Given the description of an element on the screen output the (x, y) to click on. 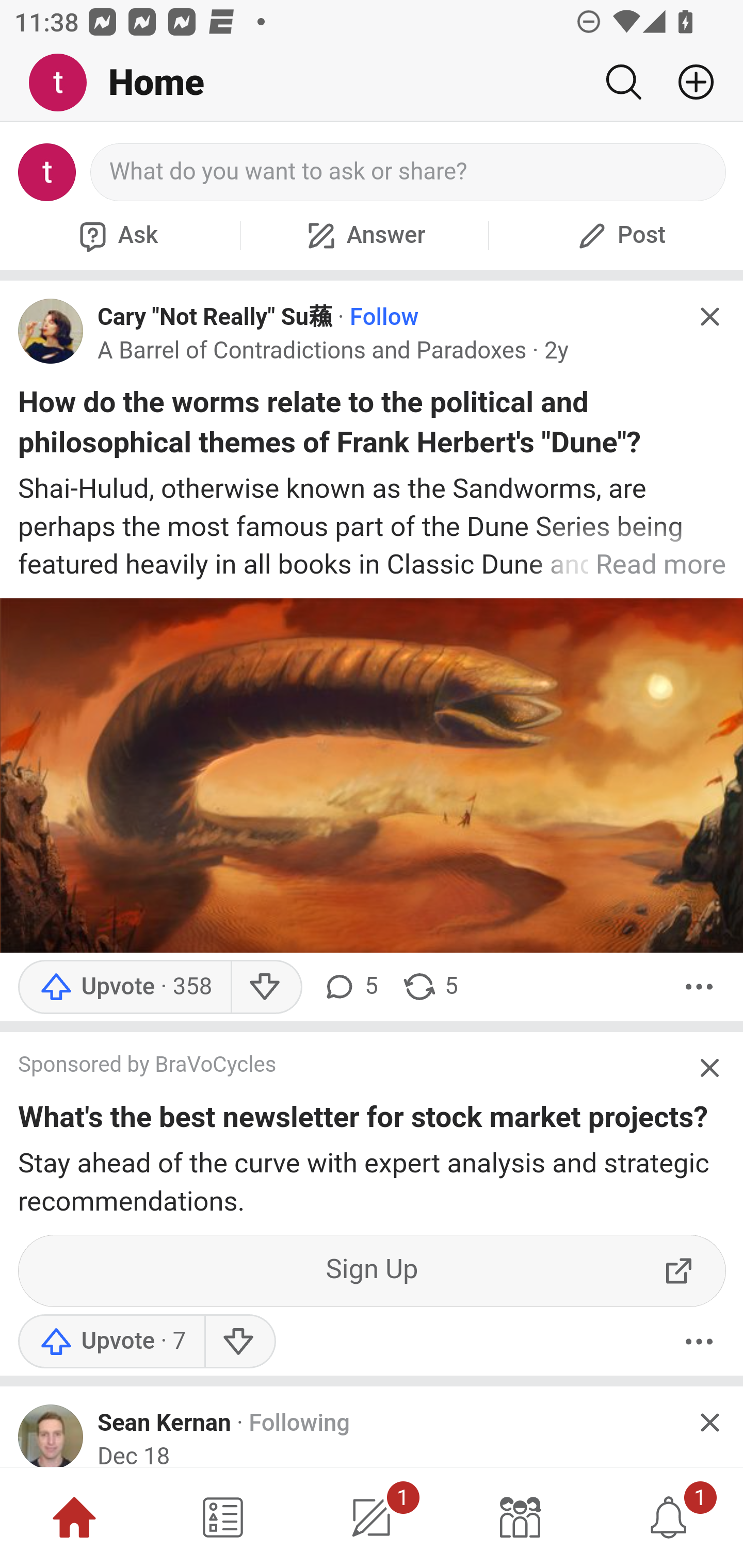
Me (64, 83)
Search (623, 82)
Add (688, 82)
What do you want to ask or share? (408, 172)
Ask (116, 234)
Answer (364, 234)
Post (618, 234)
Hide (709, 316)
Profile photo for Cary "Not Really" Su蘓 (50, 330)
Cary "Not Really" Su蘓 (215, 316)
Follow (384, 316)
Upvote (124, 986)
Downvote (266, 986)
5 comments (349, 986)
5 shares (429, 986)
More (699, 986)
Hide (709, 1068)
Sponsored by BraVoCycles (352, 1065)
Sign Up ExternalLink (372, 1270)
Upvote (111, 1340)
Downvote (238, 1340)
More (699, 1340)
Hide (709, 1422)
Profile photo for Sean Kernan (50, 1436)
Sean Kernan (164, 1422)
Following (299, 1422)
1 (371, 1517)
1 (668, 1517)
